Given the description of an element on the screen output the (x, y) to click on. 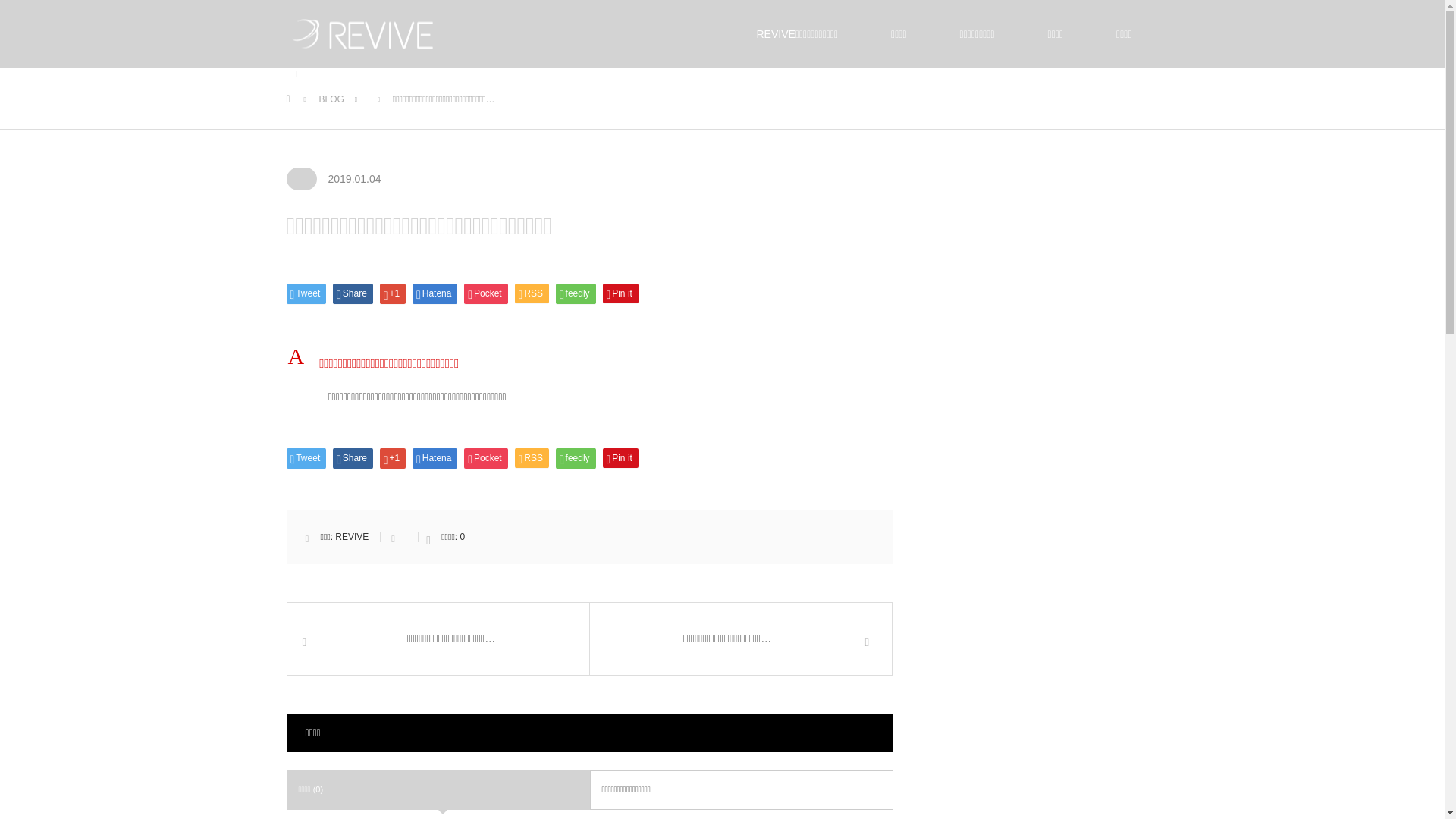
feedly Element type: text (575, 458)
RSS Element type: text (531, 457)
Tweet Element type: text (306, 458)
+1 Element type: text (392, 458)
Pin it Element type: text (619, 293)
Hatena Element type: text (434, 458)
Share Element type: text (352, 293)
BLOG Element type: text (330, 99)
Pocket Element type: text (485, 458)
Pin it Element type: text (619, 457)
feedly Element type: text (575, 293)
Hatena Element type: text (434, 293)
+1 Element type: text (392, 293)
RSS Element type: text (531, 293)
Tweet Element type: text (306, 293)
Share Element type: text (352, 458)
Pocket Element type: text (485, 293)
0 Element type: text (461, 536)
REVIVE Element type: text (351, 536)
